Given the description of an element on the screen output the (x, y) to click on. 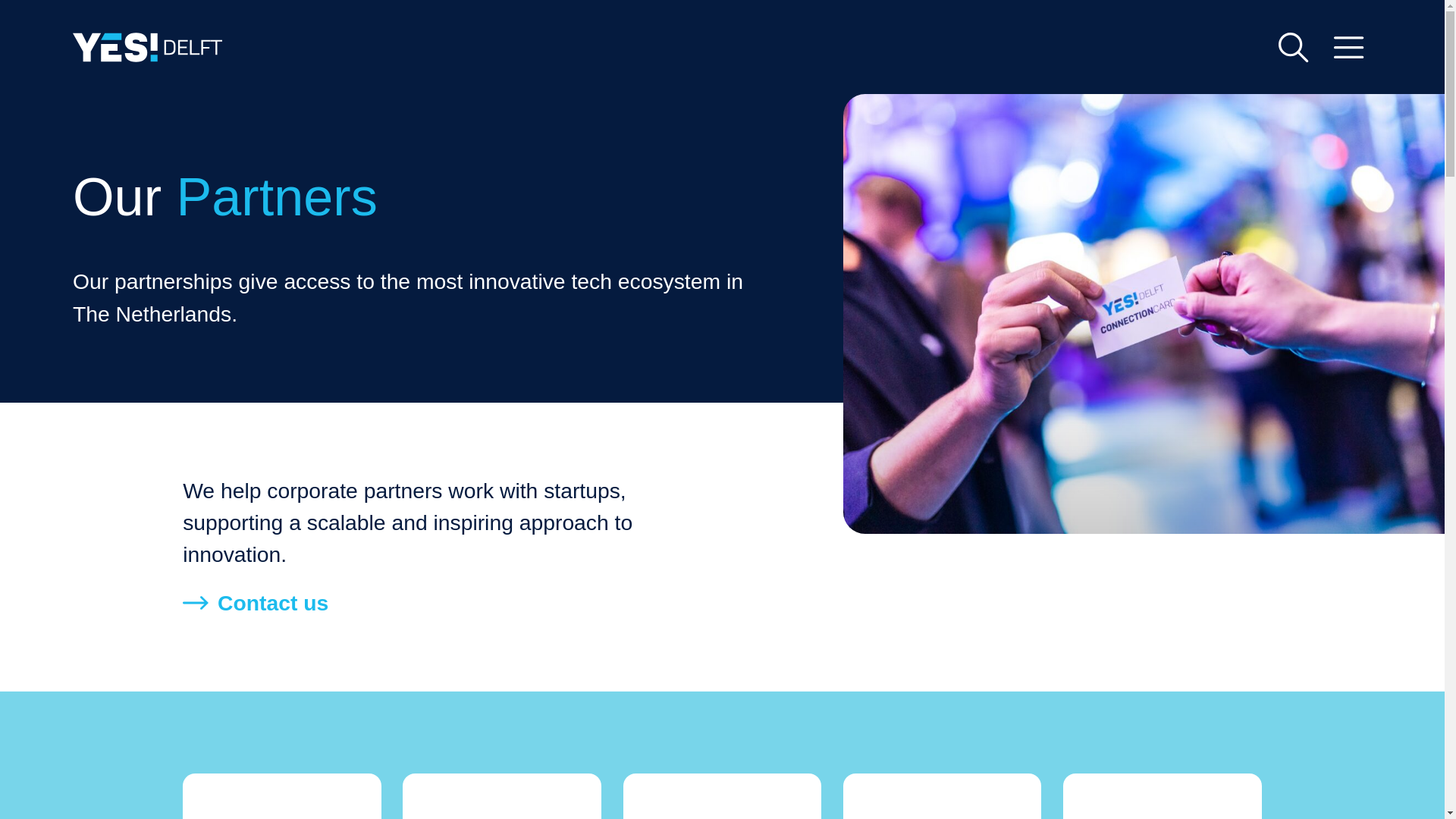
Female Ventures (942, 796)
Benvalor (282, 796)
Gemeente Delft (1162, 796)
Contact us (256, 603)
MRDH (722, 796)
